Given the description of an element on the screen output the (x, y) to click on. 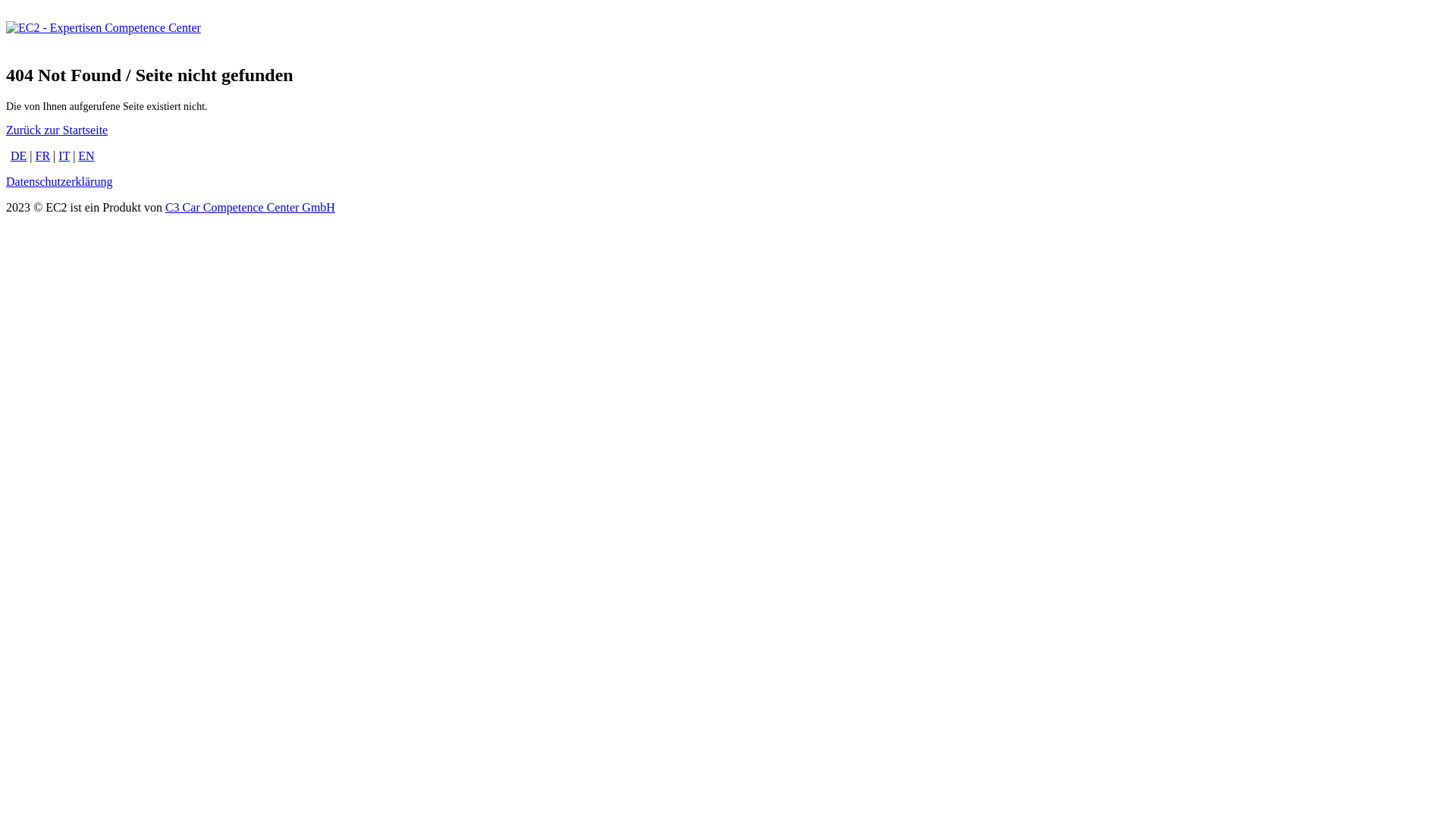
DE Element type: text (18, 155)
FR Element type: text (42, 155)
EN Element type: text (86, 155)
C3 Car Competence Center GmbH Element type: text (250, 206)
IT Element type: text (63, 155)
